Given the description of an element on the screen output the (x, y) to click on. 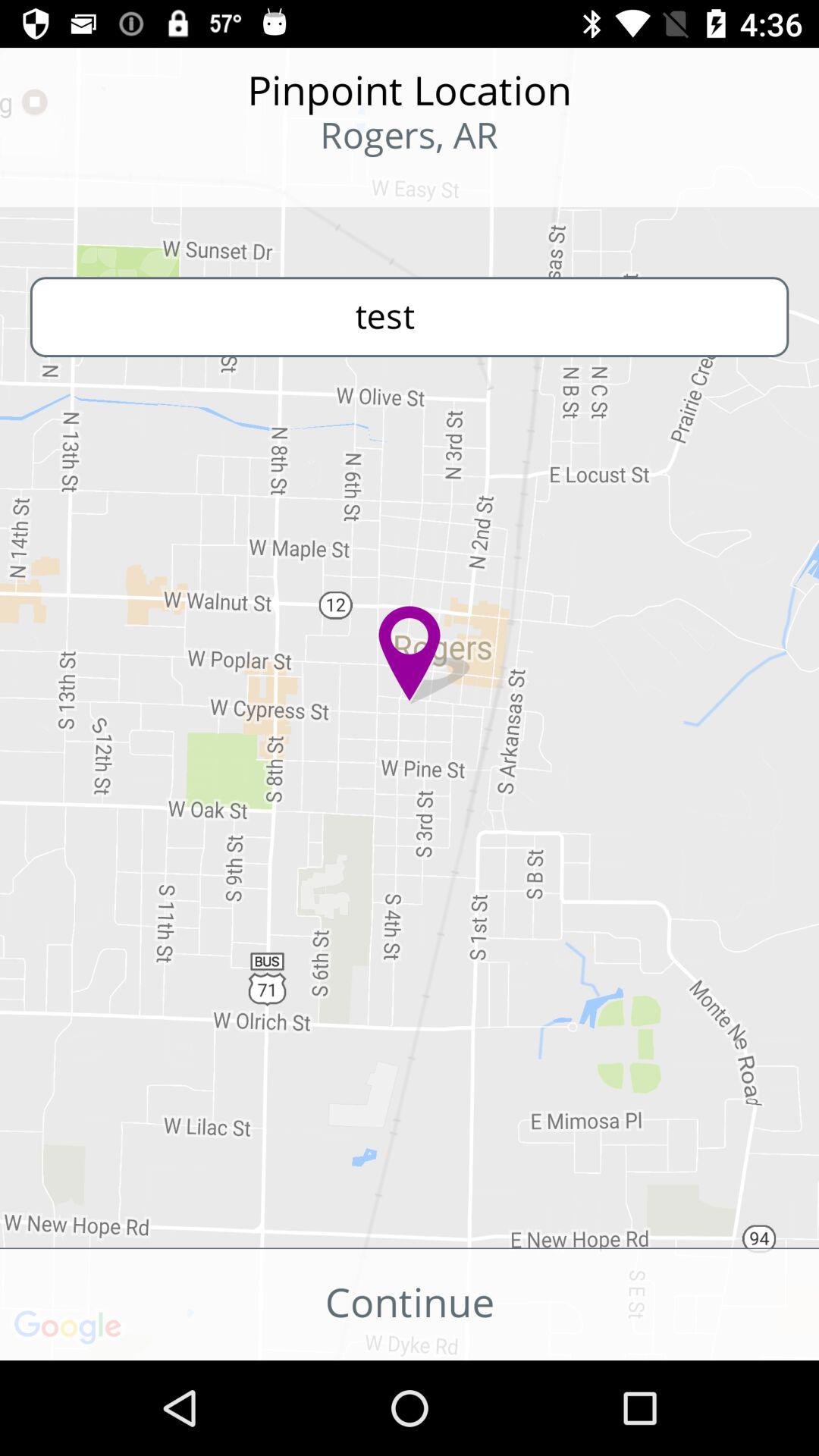
launch item at the top left corner (99, 182)
